Given the description of an element on the screen output the (x, y) to click on. 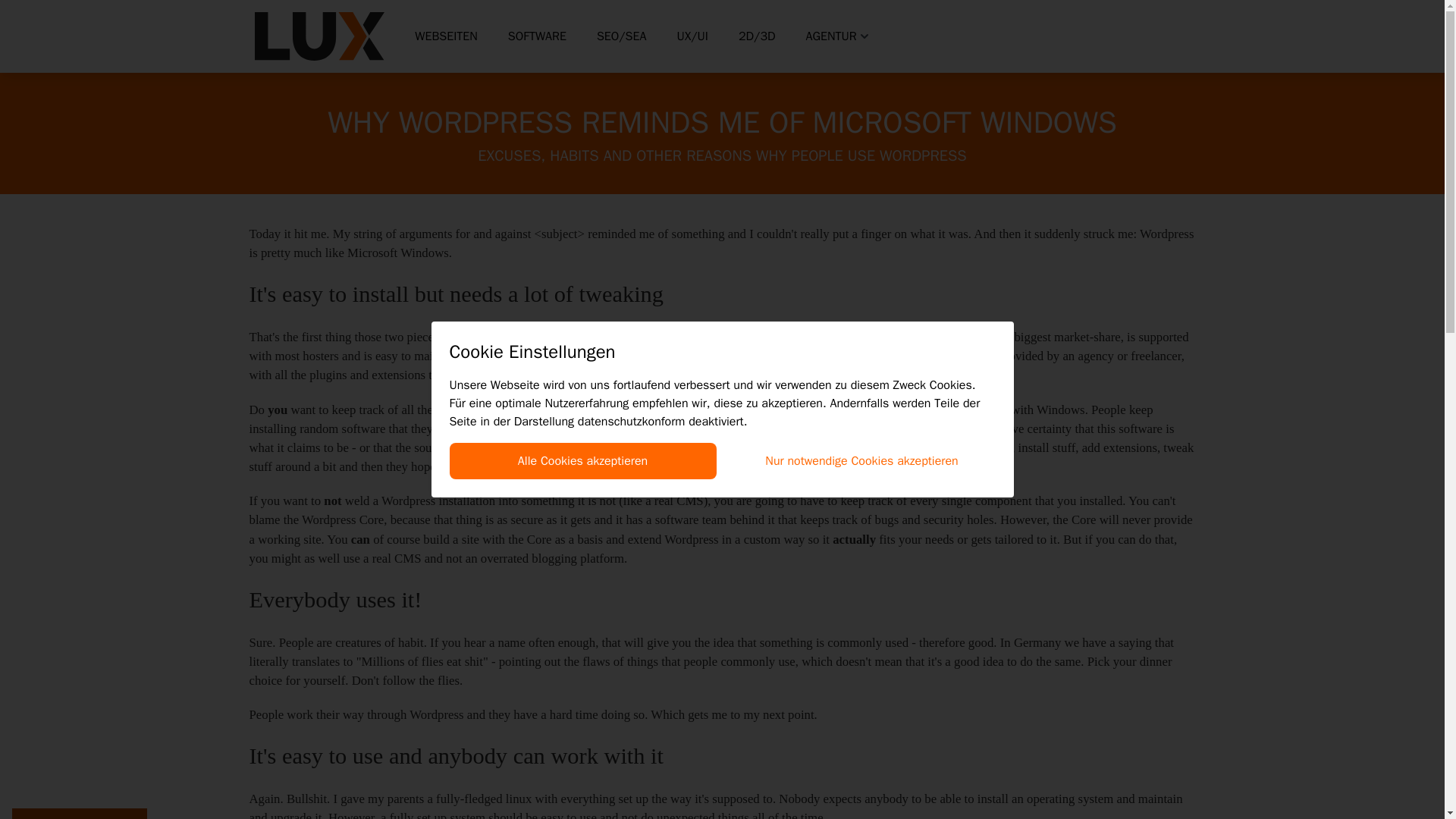
WEBSEITEN (445, 36)
AGENTUR (839, 36)
SOFTWARE (537, 36)
